Given the description of an element on the screen output the (x, y) to click on. 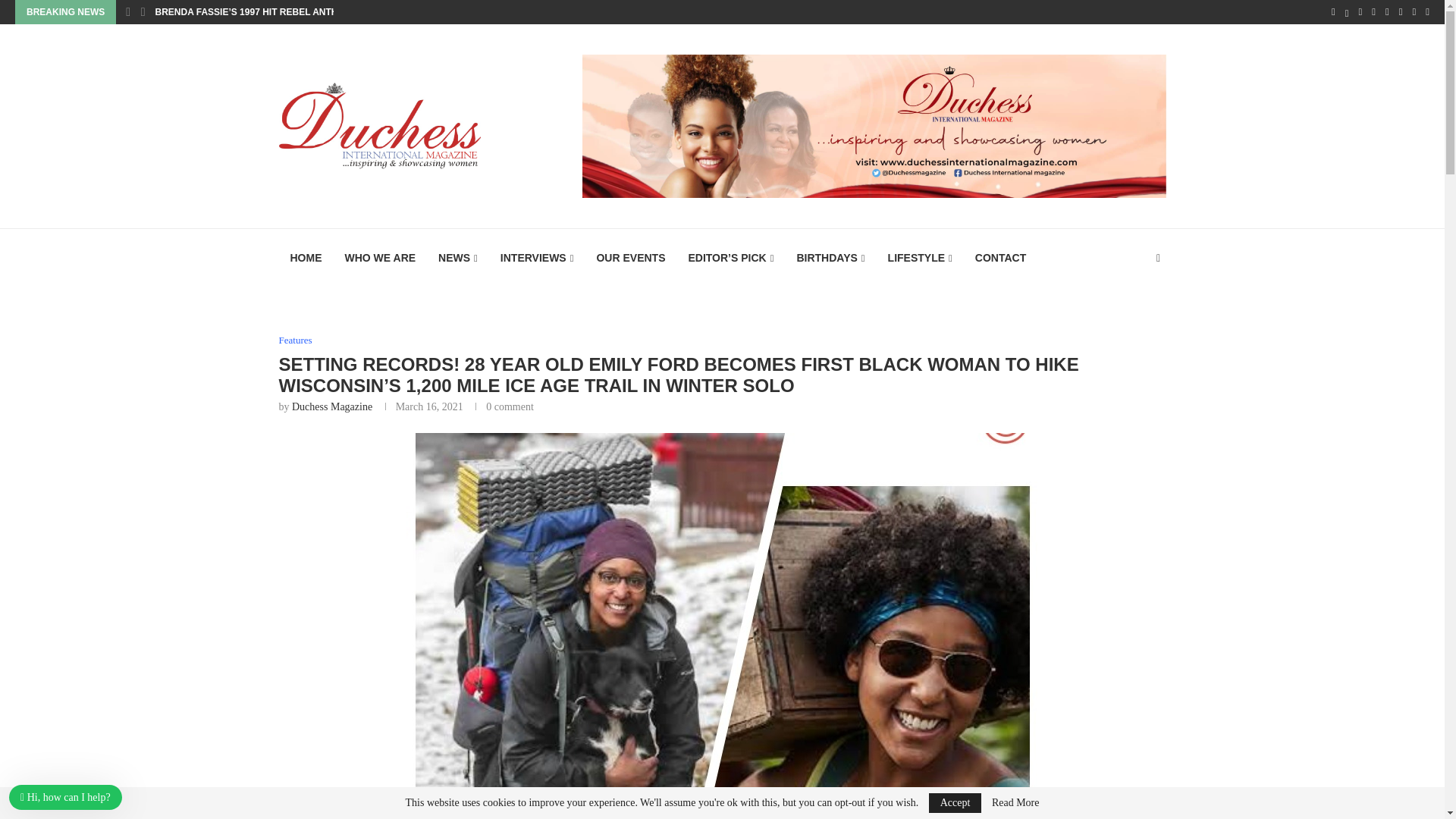
HOME (306, 258)
